Given the description of an element on the screen output the (x, y) to click on. 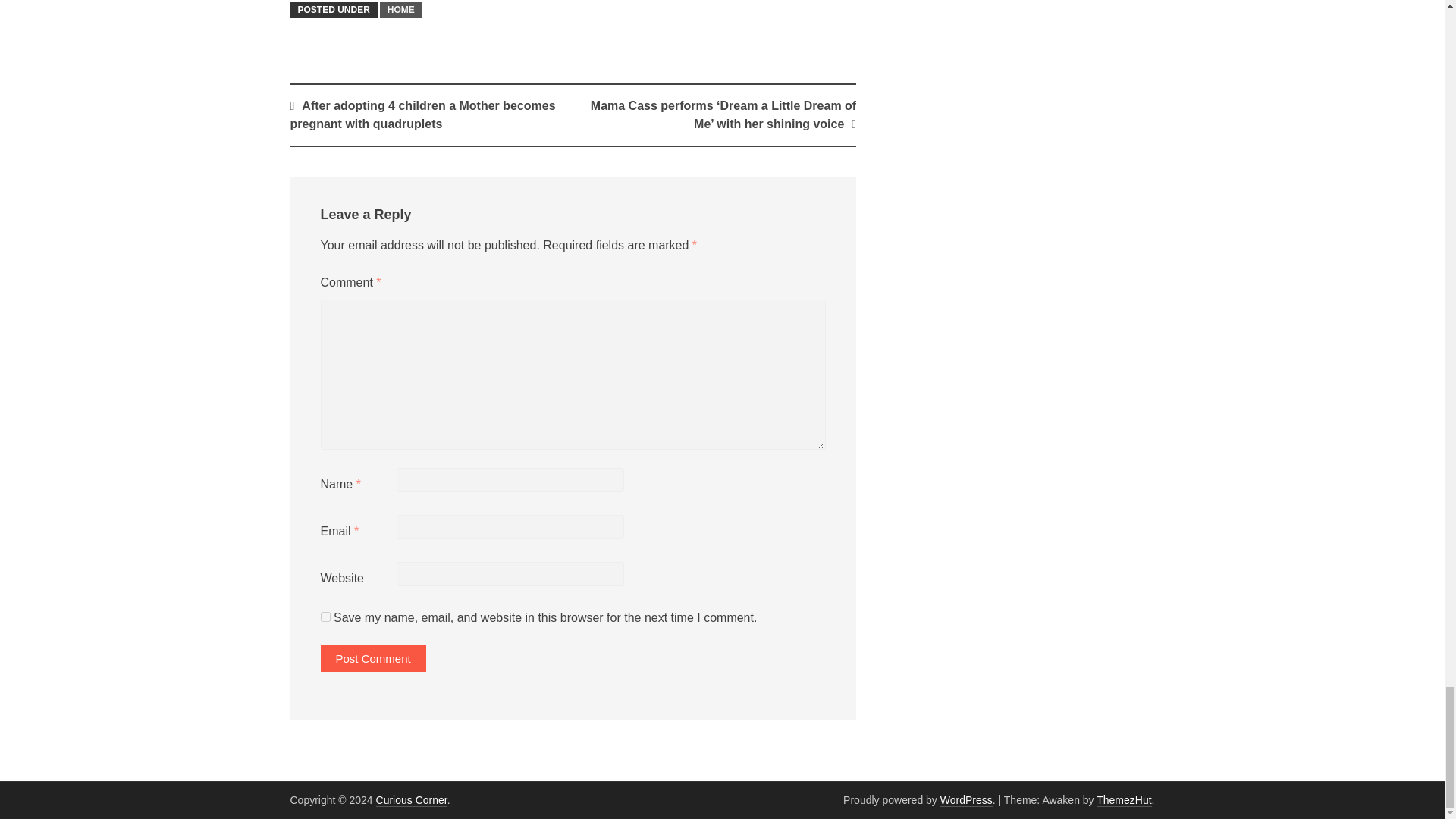
WordPress (966, 799)
yes (325, 616)
Curious Corner (410, 799)
Post Comment (372, 658)
Curious Corner (410, 799)
HOME (401, 9)
Post Comment (372, 658)
